Given the description of an element on the screen output the (x, y) to click on. 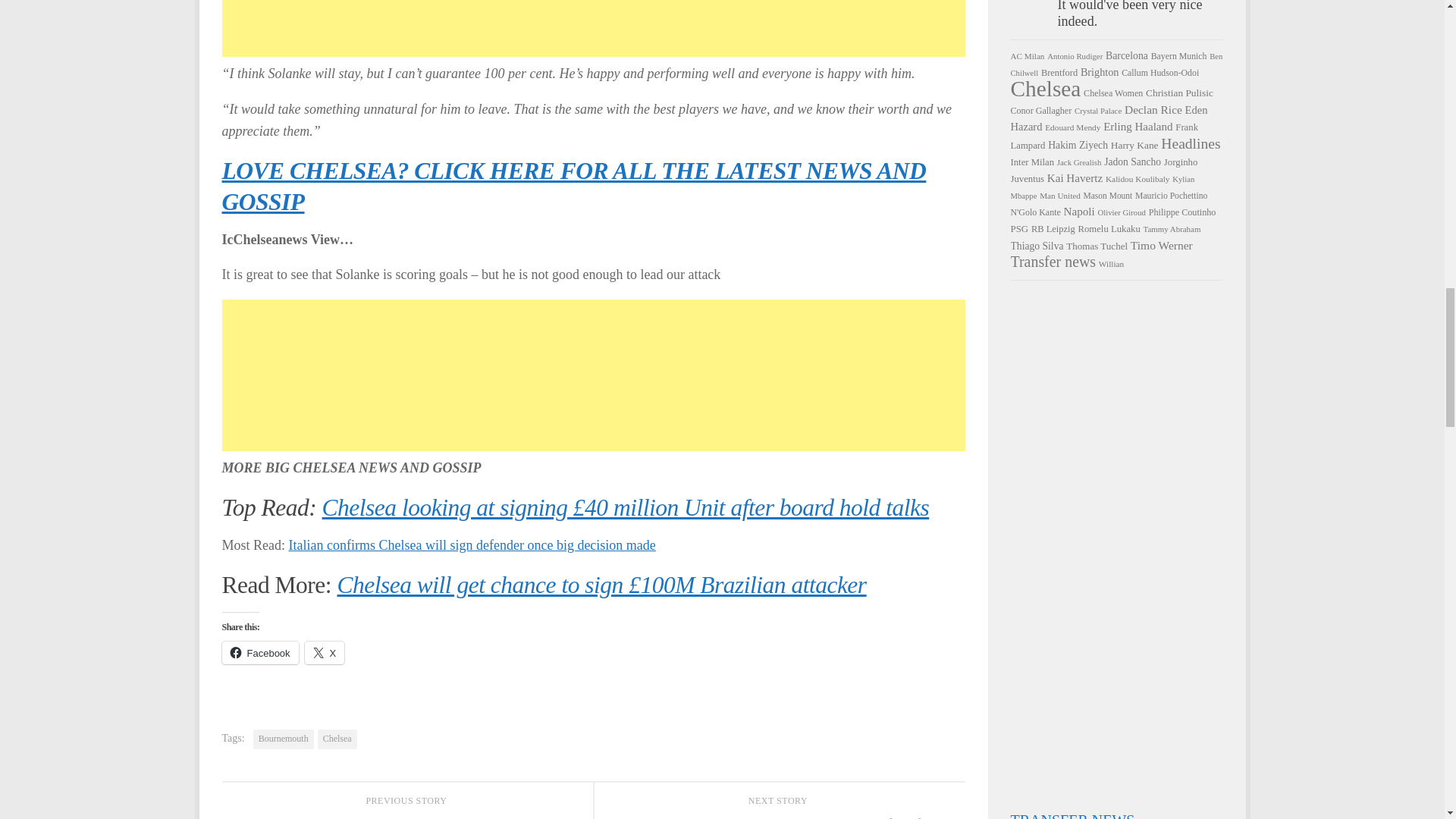
Chelsea (336, 739)
LOVE CHELSEA? CLICK HERE FOR ALL THE LATEST NEWS AND GOSSIP (573, 186)
Click to share on X (324, 652)
Click to share on Facebook (259, 652)
X (324, 652)
Bournemouth (283, 739)
Facebook (259, 652)
